Given the description of an element on the screen output the (x, y) to click on. 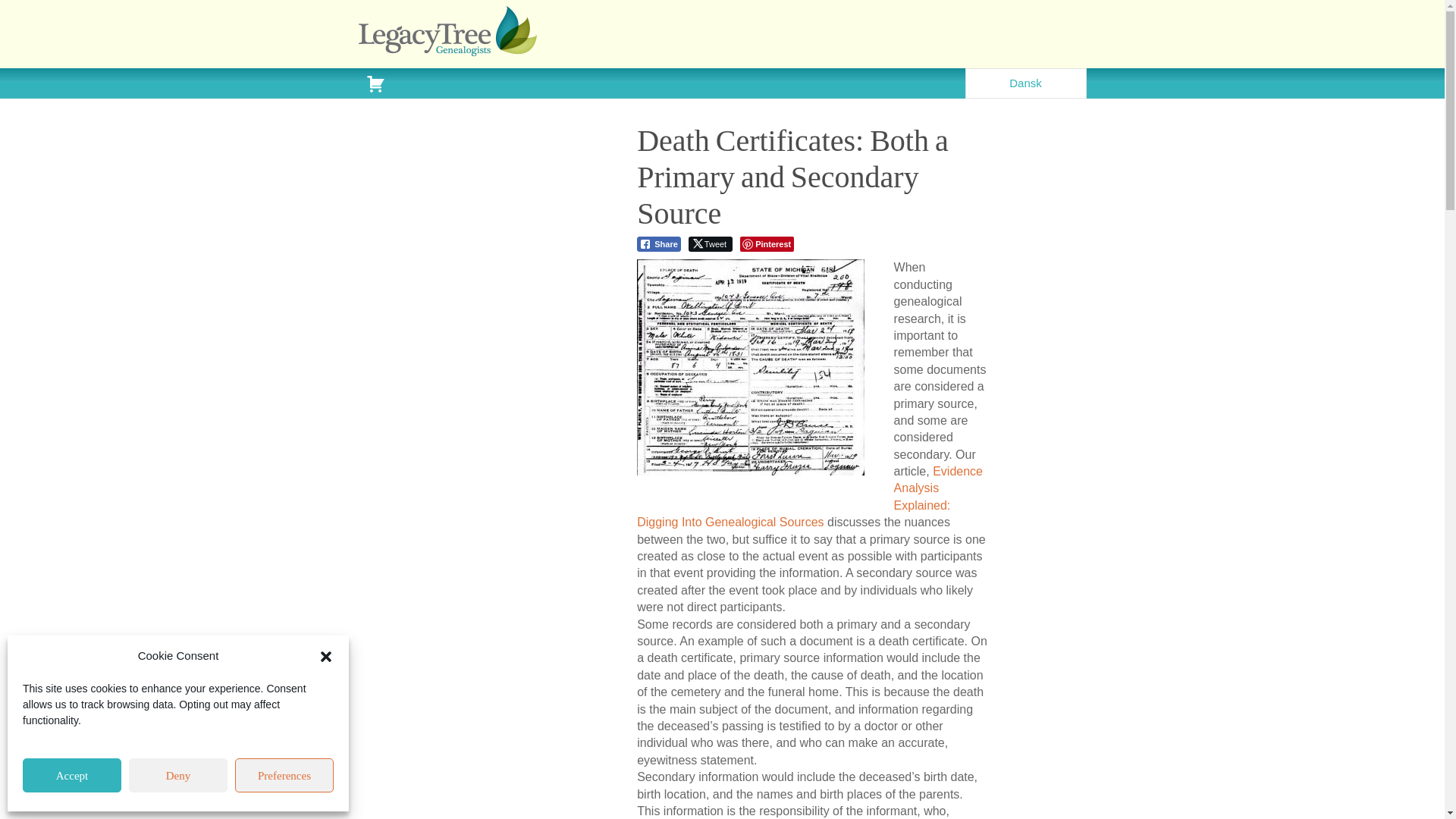
Pinterest (766, 243)
Accept (71, 775)
Preferences (283, 775)
Deny (178, 775)
Share (659, 243)
Tweet (710, 243)
